Given the description of an element on the screen output the (x, y) to click on. 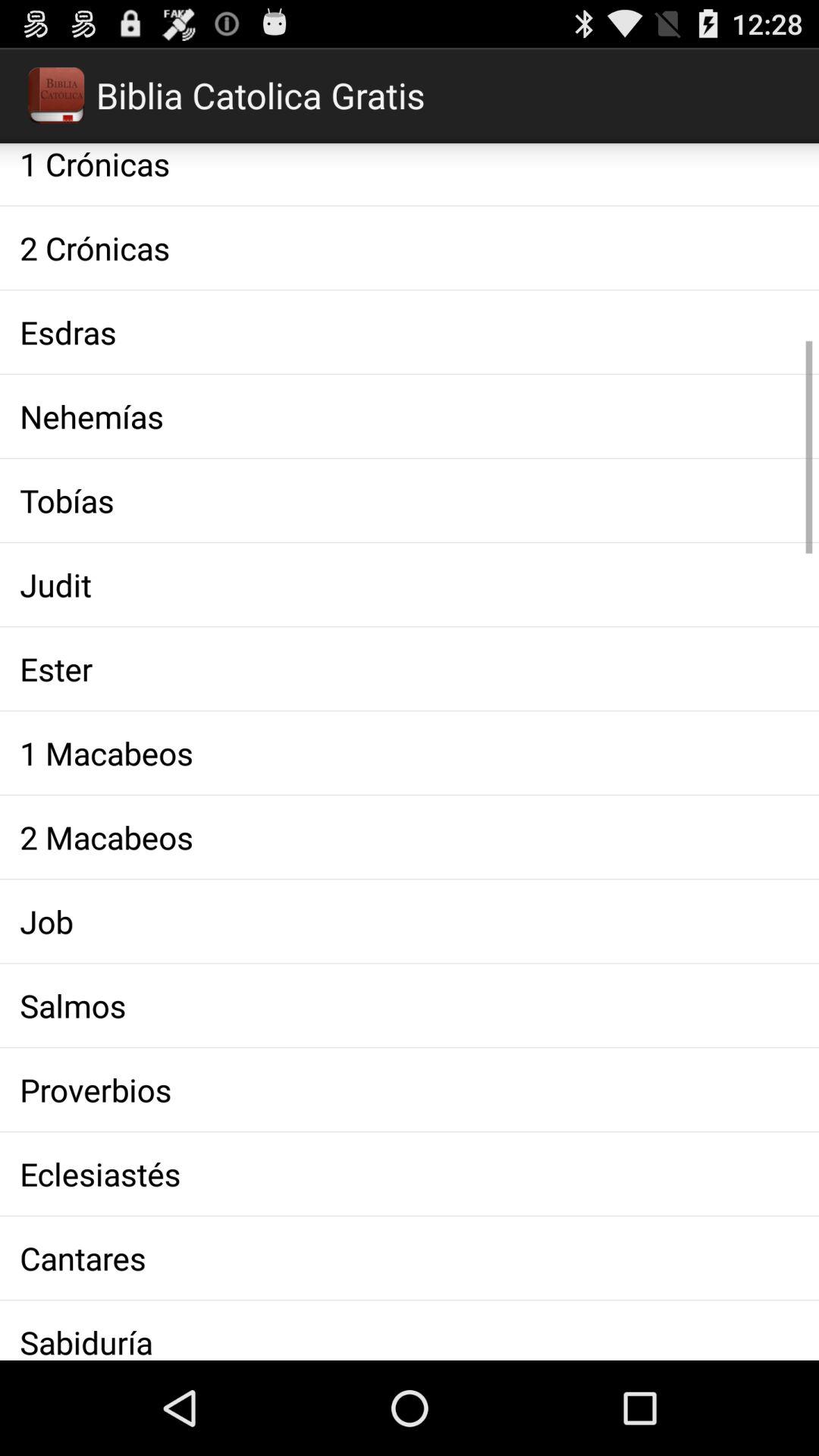
select the app above the cantares app (409, 1173)
